Given the description of an element on the screen output the (x, y) to click on. 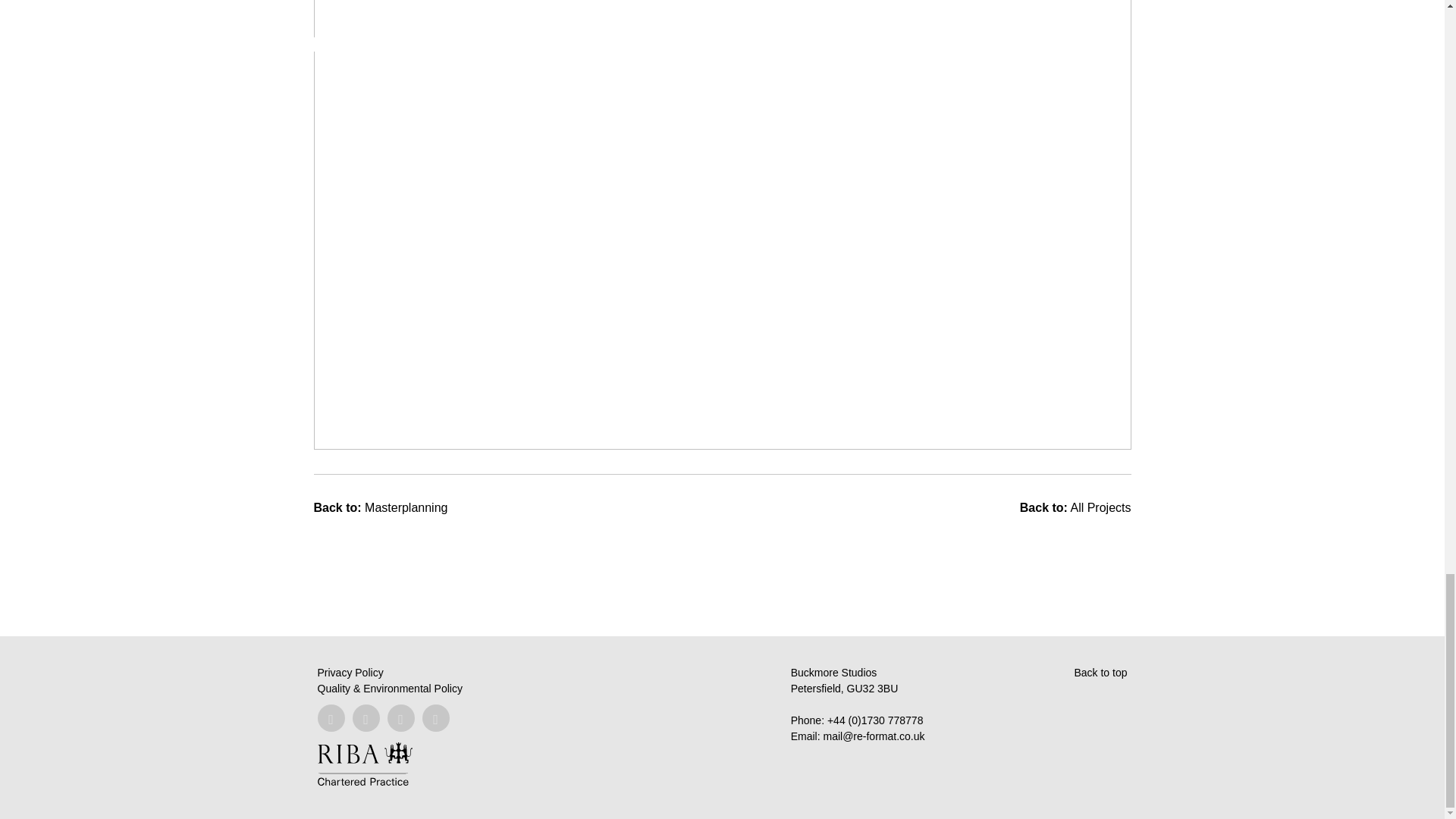
Privacy Policy (349, 672)
Back to: Masterplanning (381, 507)
Back to: All Projects (1075, 507)
